Given the description of an element on the screen output the (x, y) to click on. 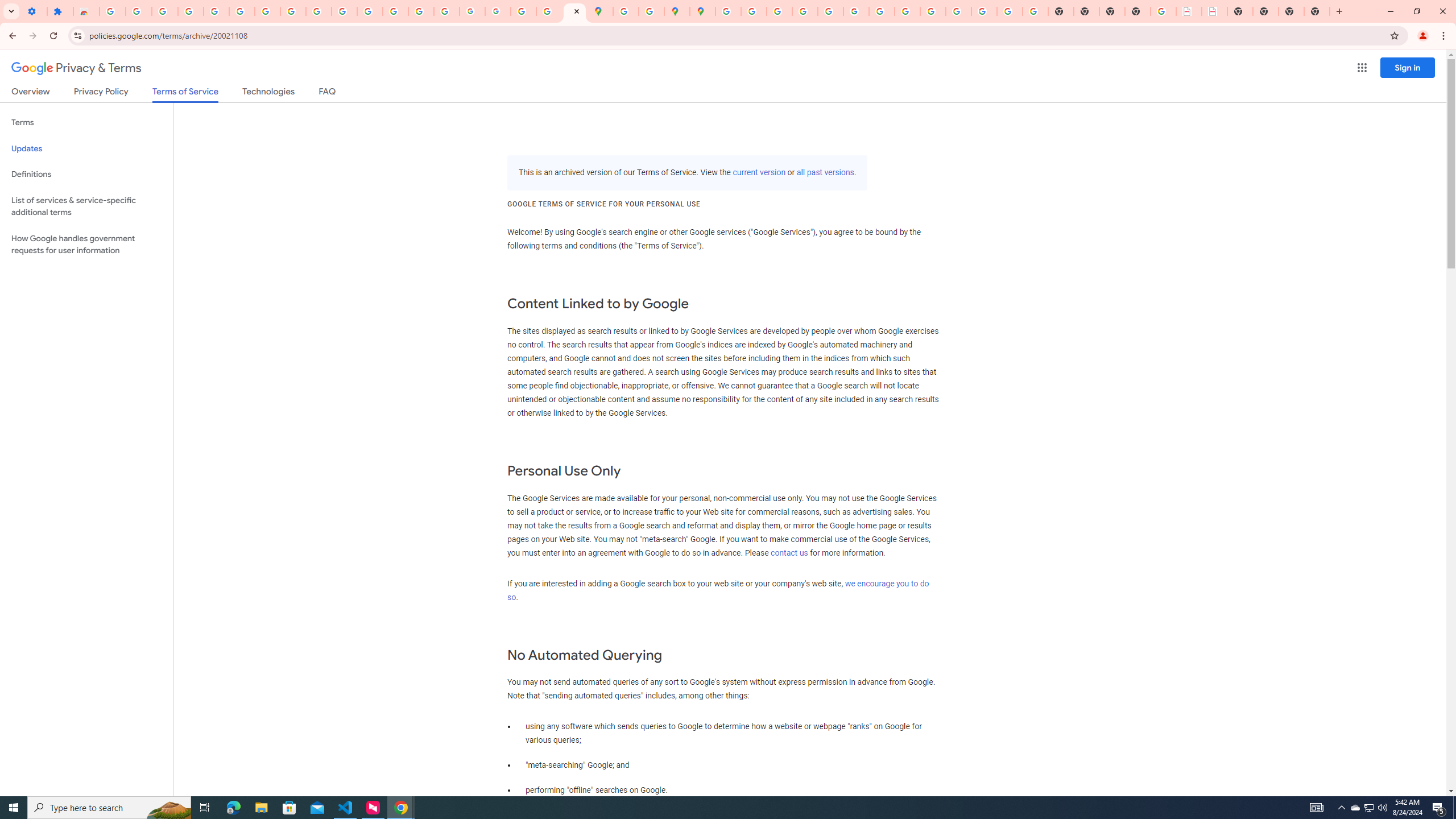
YouTube (881, 11)
Privacy Help Center - Policies Help (779, 11)
YouTube (318, 11)
